Given the description of an element on the screen output the (x, y) to click on. 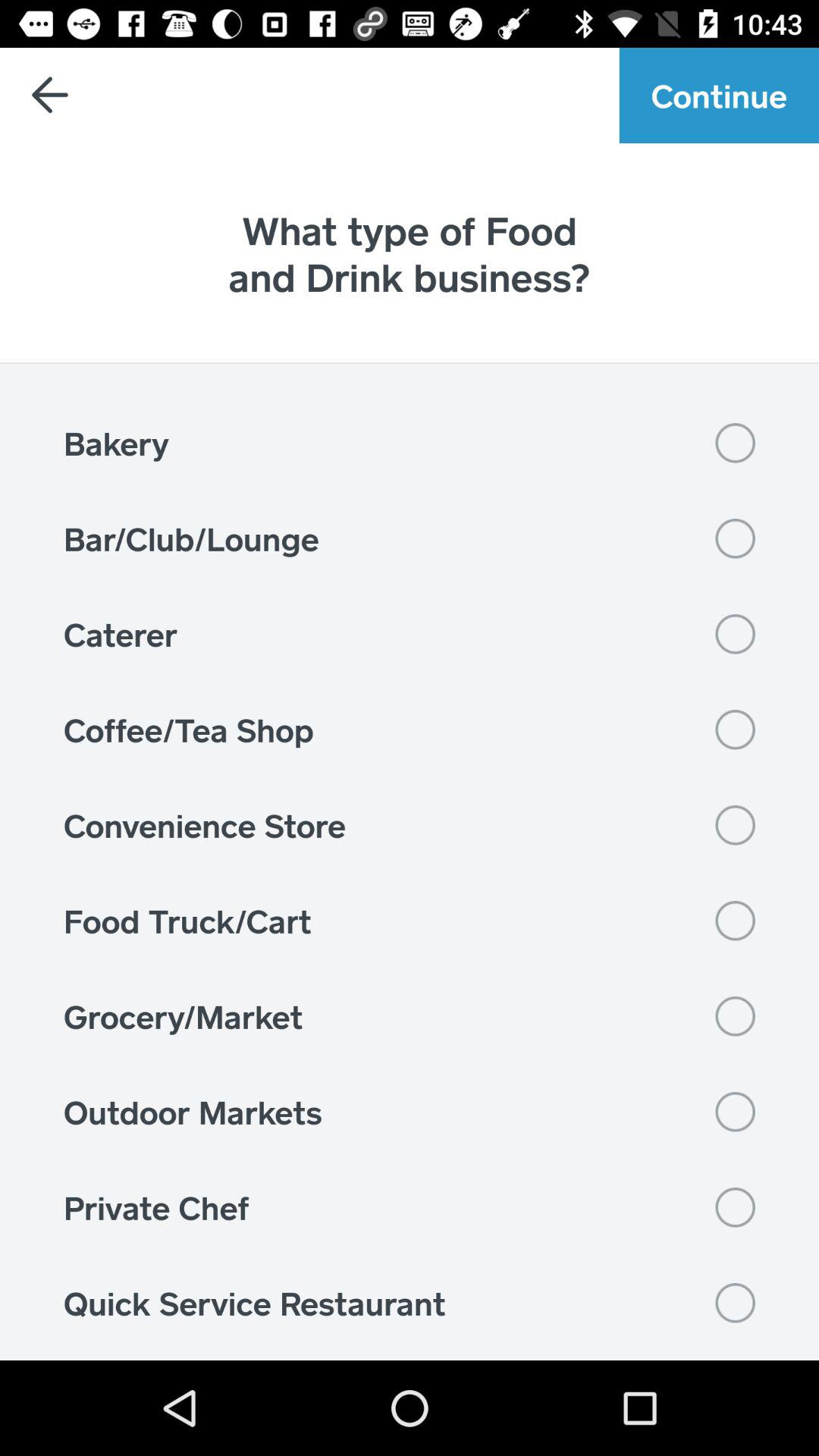
swipe to the what type of icon (409, 253)
